Given the description of an element on the screen output the (x, y) to click on. 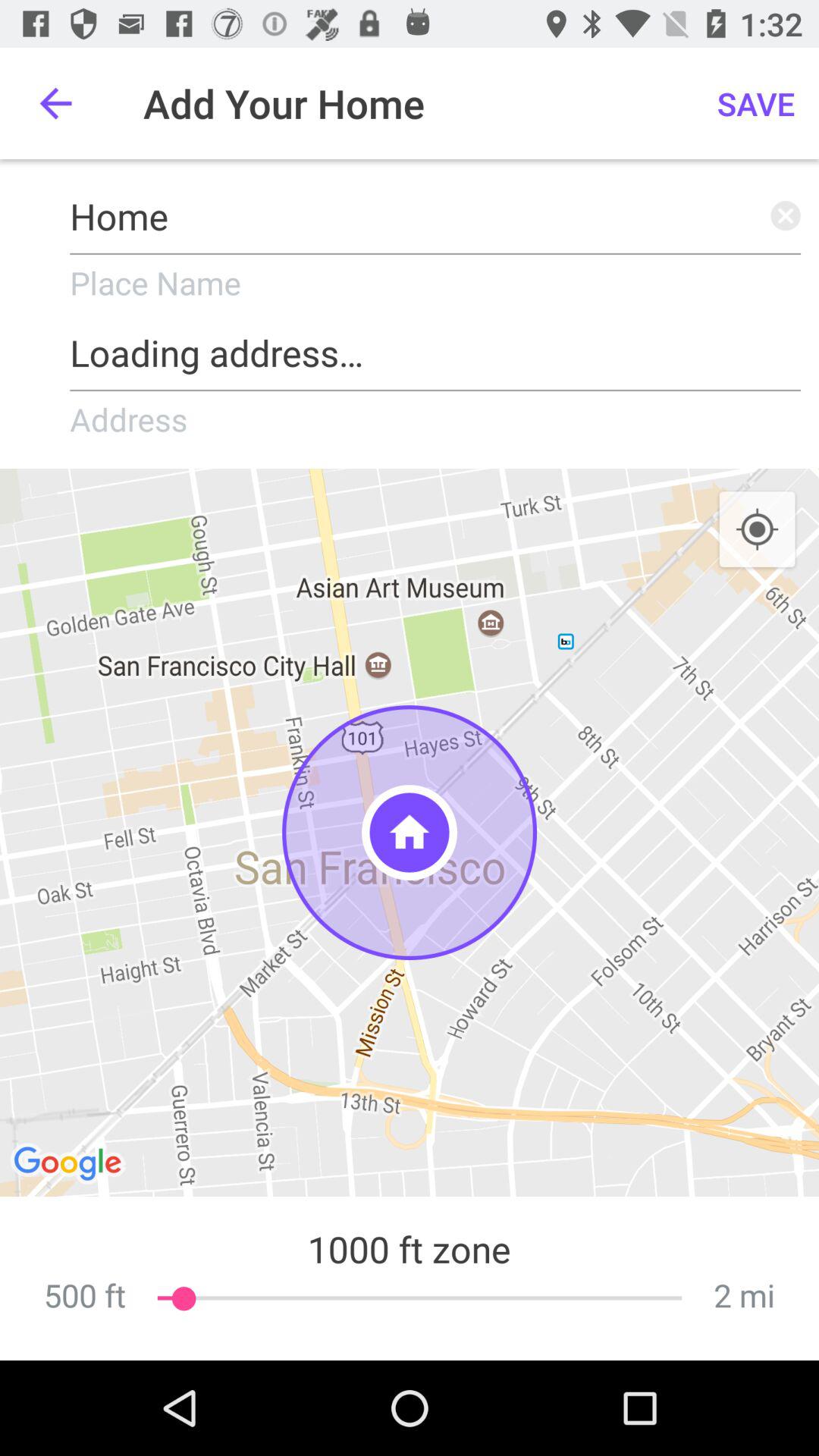
press icon above home icon (55, 103)
